Given the description of an element on the screen output the (x, y) to click on. 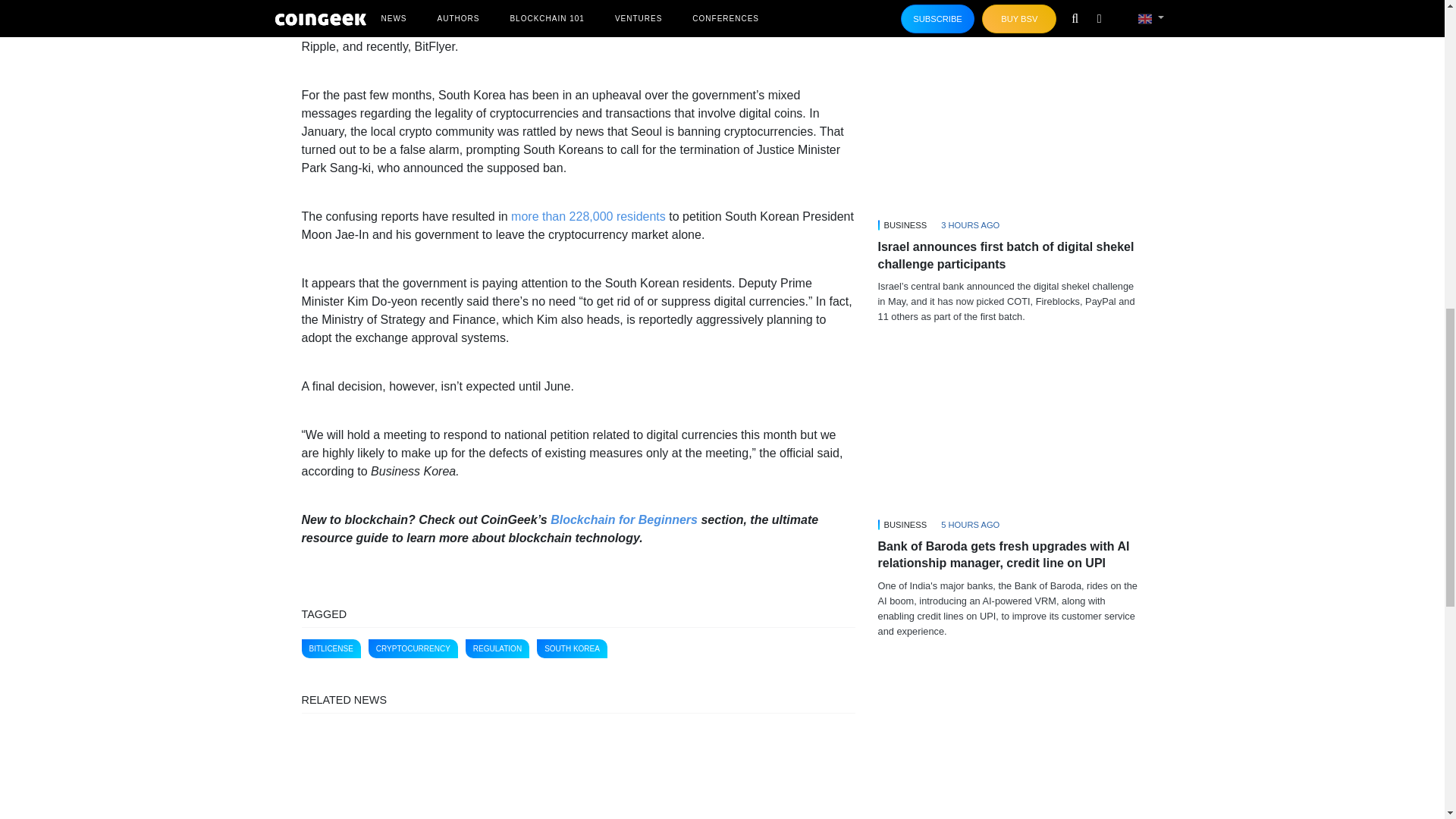
more than 228,000 residents (588, 215)
